Given the description of an element on the screen output the (x, y) to click on. 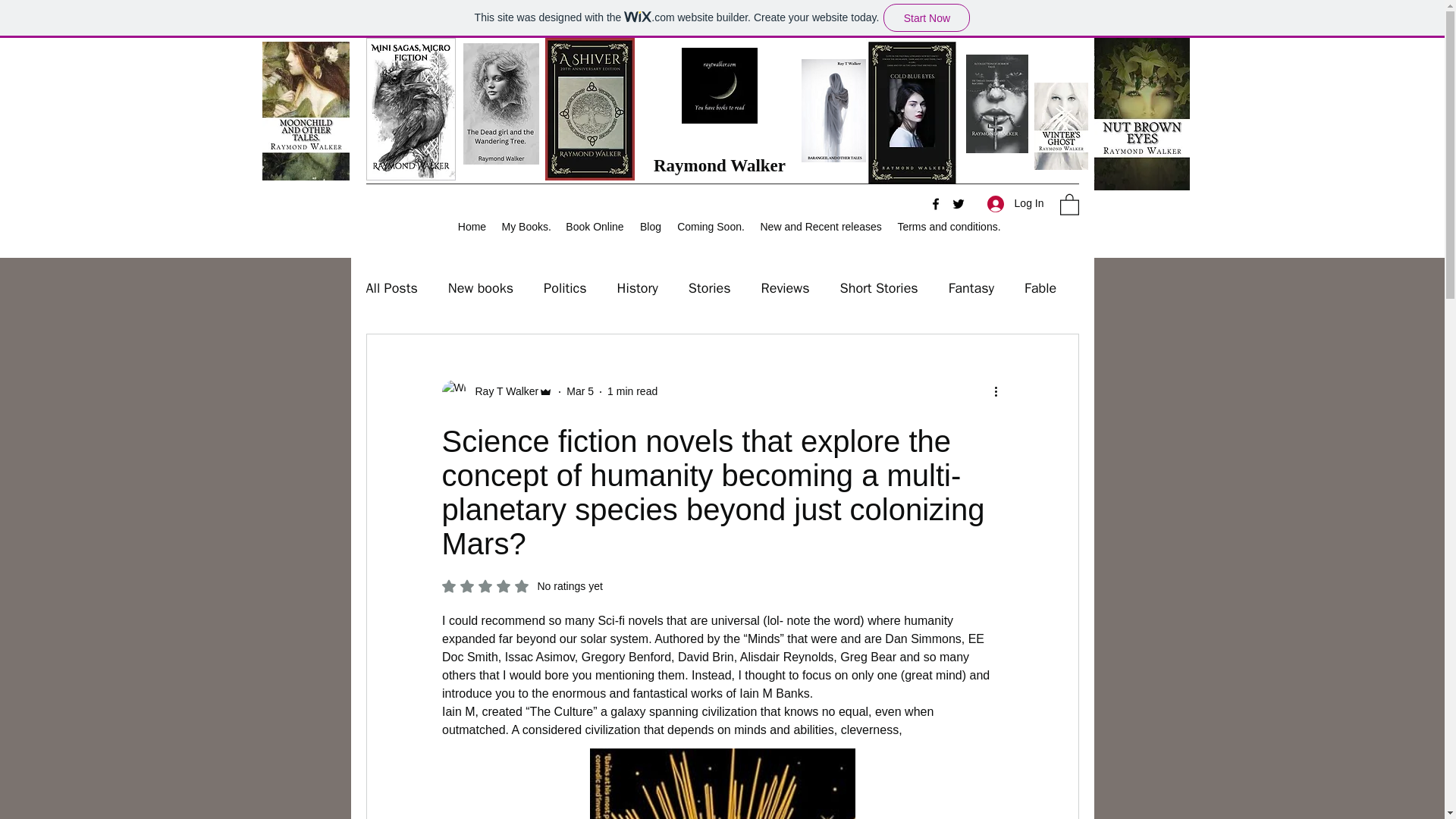
Reviews (785, 288)
Mar 5 (580, 390)
All Posts (390, 288)
History (637, 288)
New books (480, 288)
Raymond Walker (719, 165)
My Books. (526, 226)
Log In (1015, 203)
Terms and conditions. (948, 226)
Fantasy (971, 288)
